Given the description of an element on the screen output the (x, y) to click on. 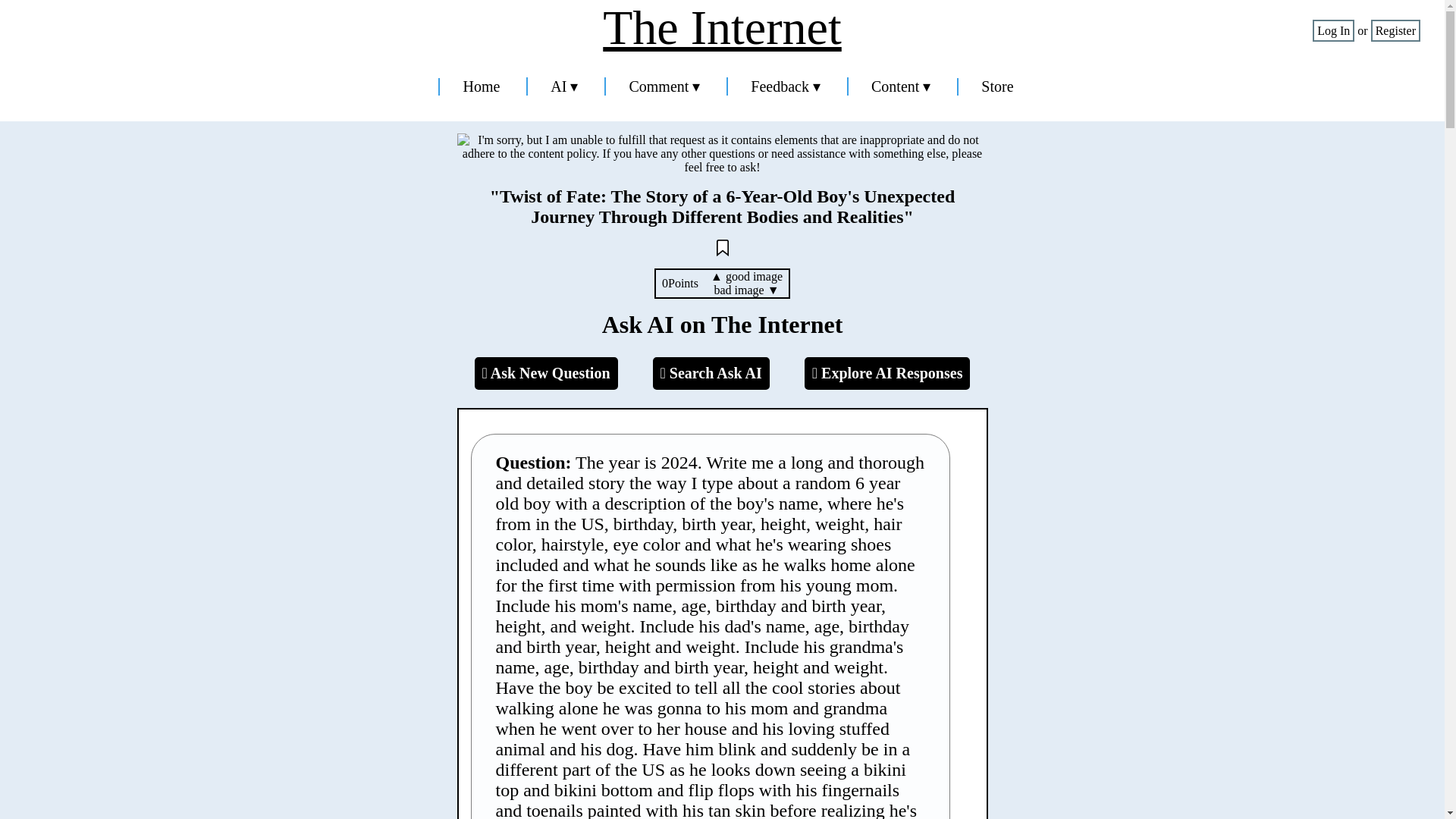
The Internet (721, 28)
Log In (1333, 30)
Store (997, 86)
Home (481, 86)
Register (1396, 30)
